Given the description of an element on the screen output the (x, y) to click on. 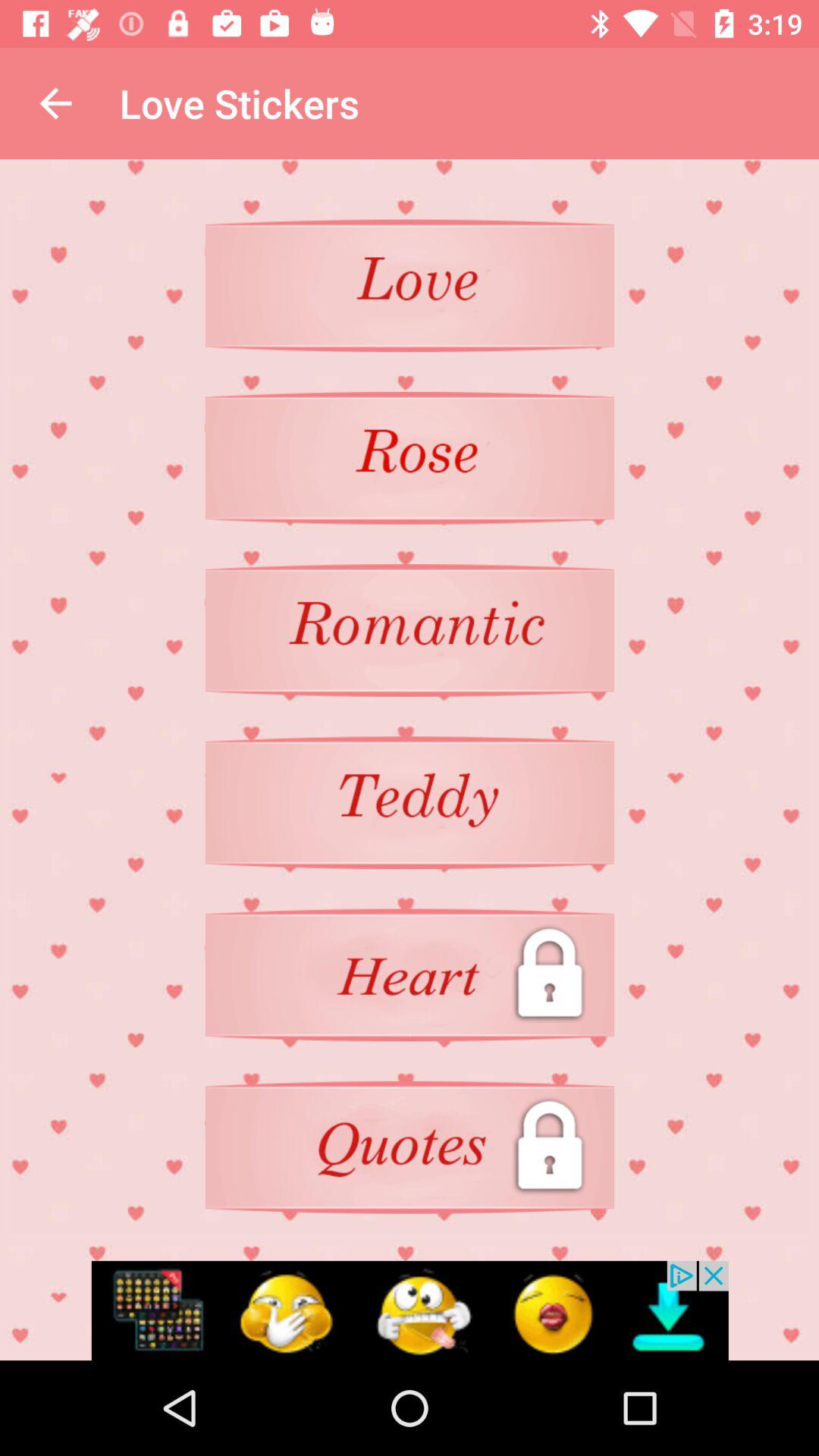
stickers love (409, 285)
